Given the description of an element on the screen output the (x, y) to click on. 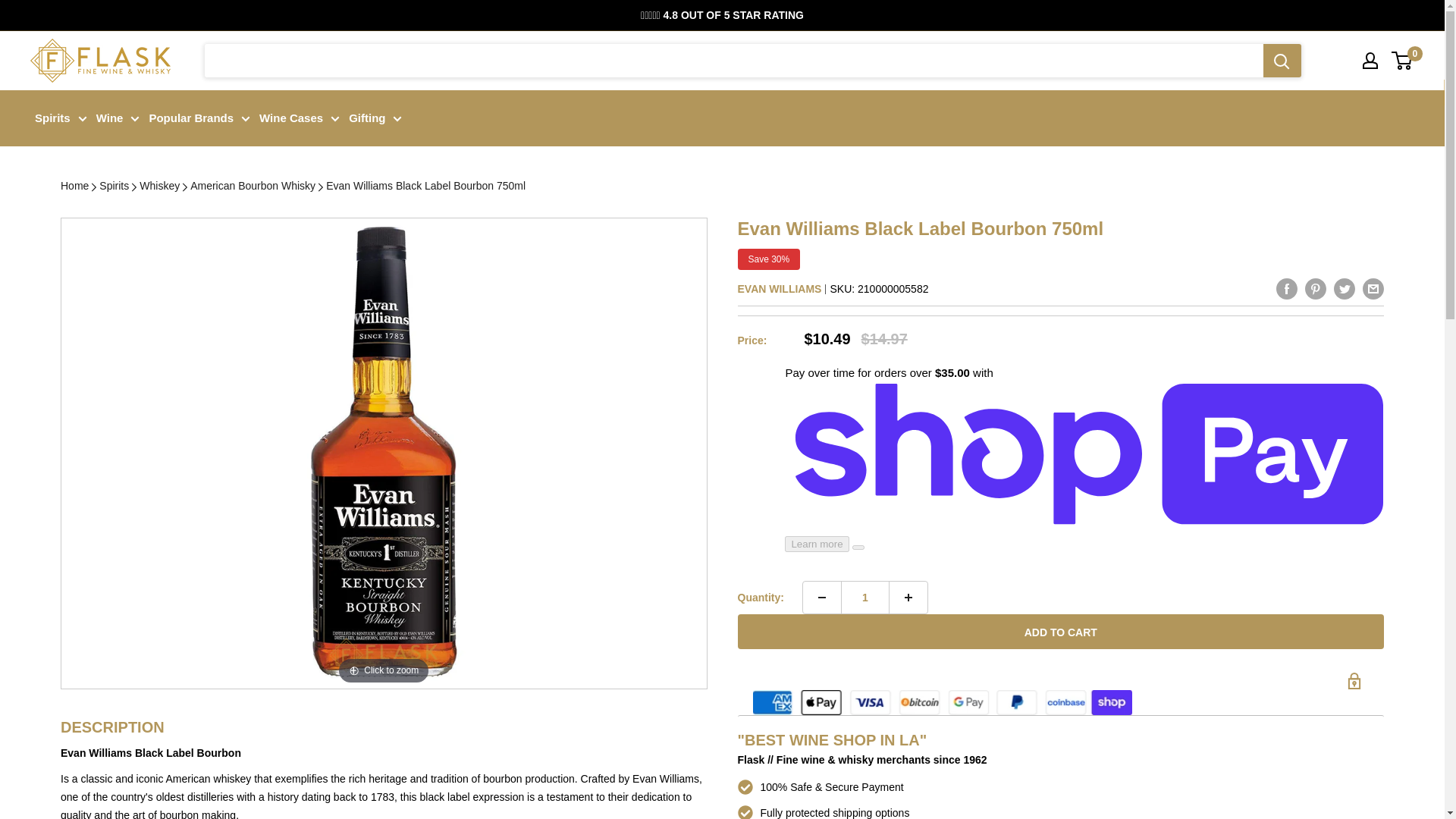
Home (74, 185)
Decrease quantity by 1 (822, 597)
1 (865, 597)
Increase quantity by 1 (908, 597)
